Given the description of an element on the screen output the (x, y) to click on. 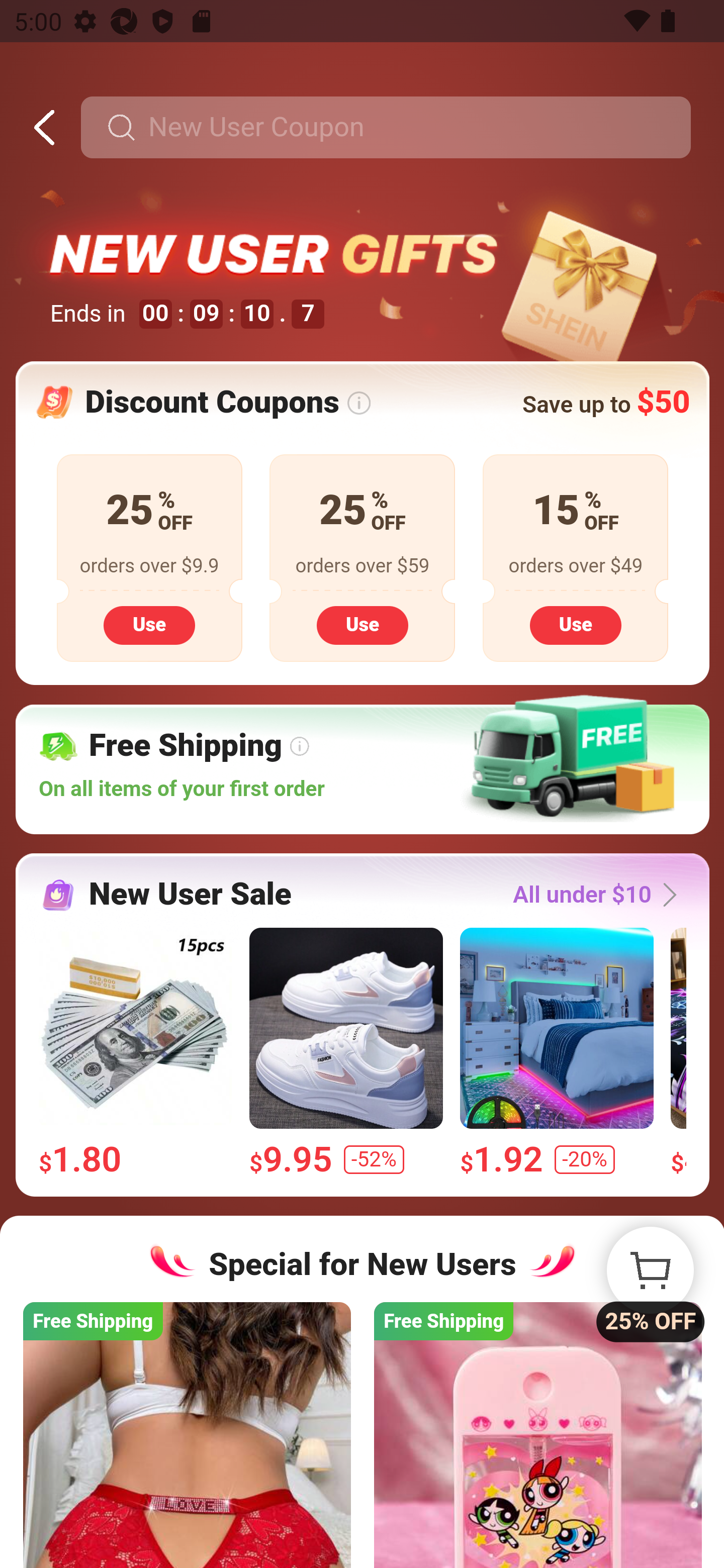
New User Coupon (384, 127)
Use (149, 624)
Use (362, 624)
Use (574, 624)
All under $10 (599, 894)
$1.80 (134, 1052)
$9.95 -52% (345, 1052)
$1.92 -20% (556, 1052)
25% OFF Enjoy 25% OFF Now ! (650, 1270)
Free Shipping (186, 1434)
Free Shipping (536, 1434)
